Given the description of an element on the screen output the (x, y) to click on. 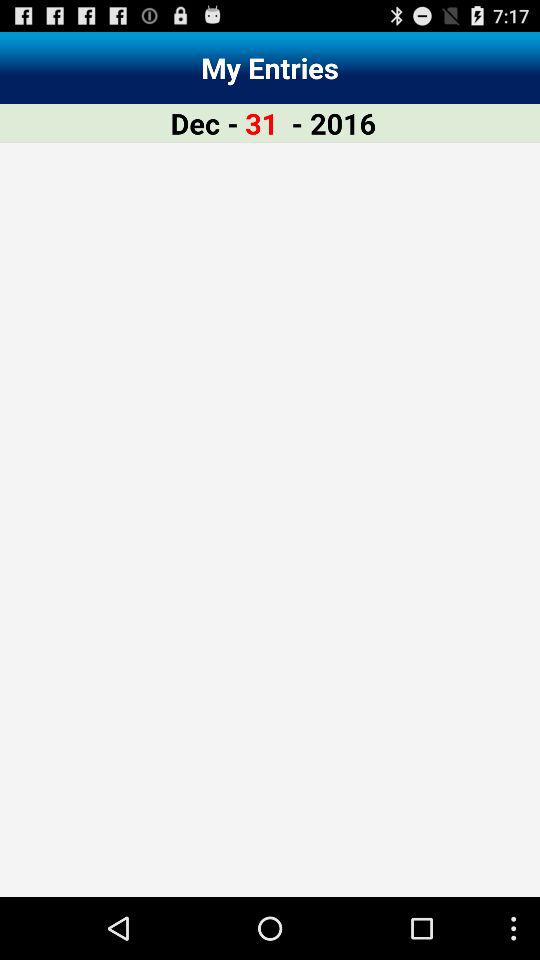
press icon below the my entries (204, 122)
